Given the description of an element on the screen output the (x, y) to click on. 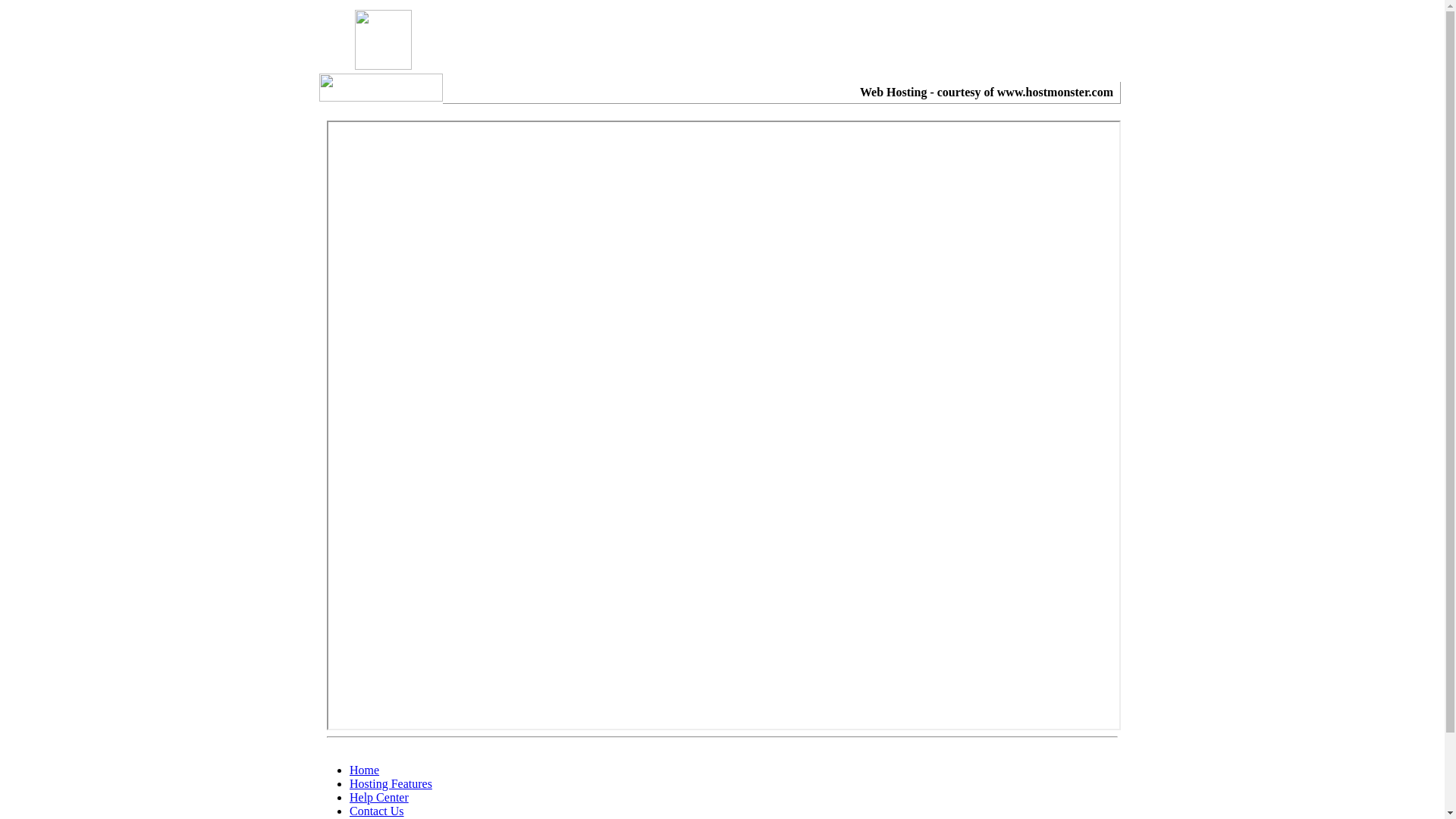
Web Hosting - courtesy of www.hostmonster.com Element type: text (986, 91)
Help Center Element type: text (378, 796)
Hosting Features Element type: text (390, 783)
Home Element type: text (364, 769)
Contact Us Element type: text (376, 810)
